Given the description of an element on the screen output the (x, y) to click on. 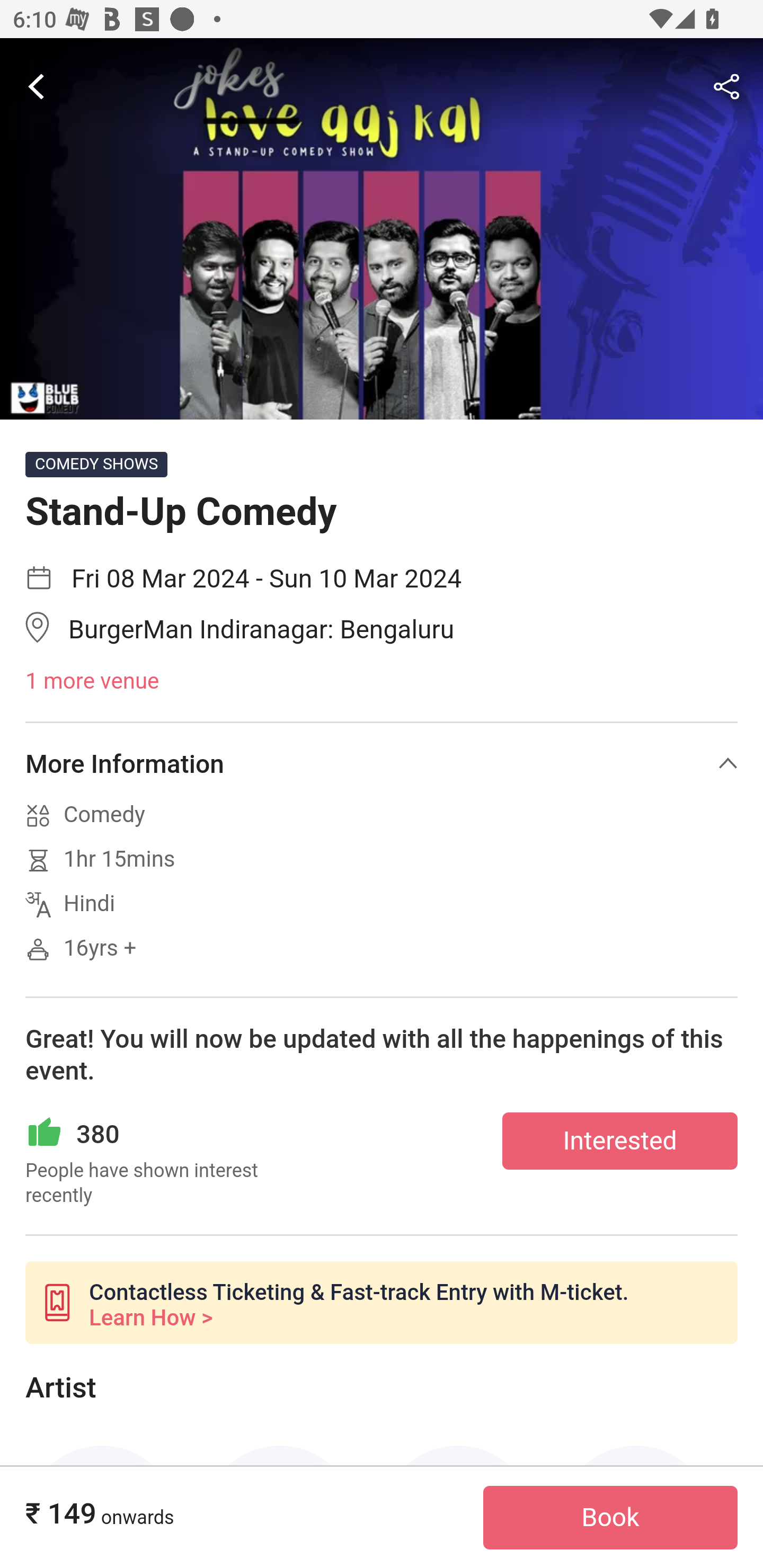
1 more venue (381, 681)
More Information (381, 763)
Interested (619, 1139)
Learn How > (150, 1317)
Book (609, 1517)
